Given the description of an element on the screen output the (x, y) to click on. 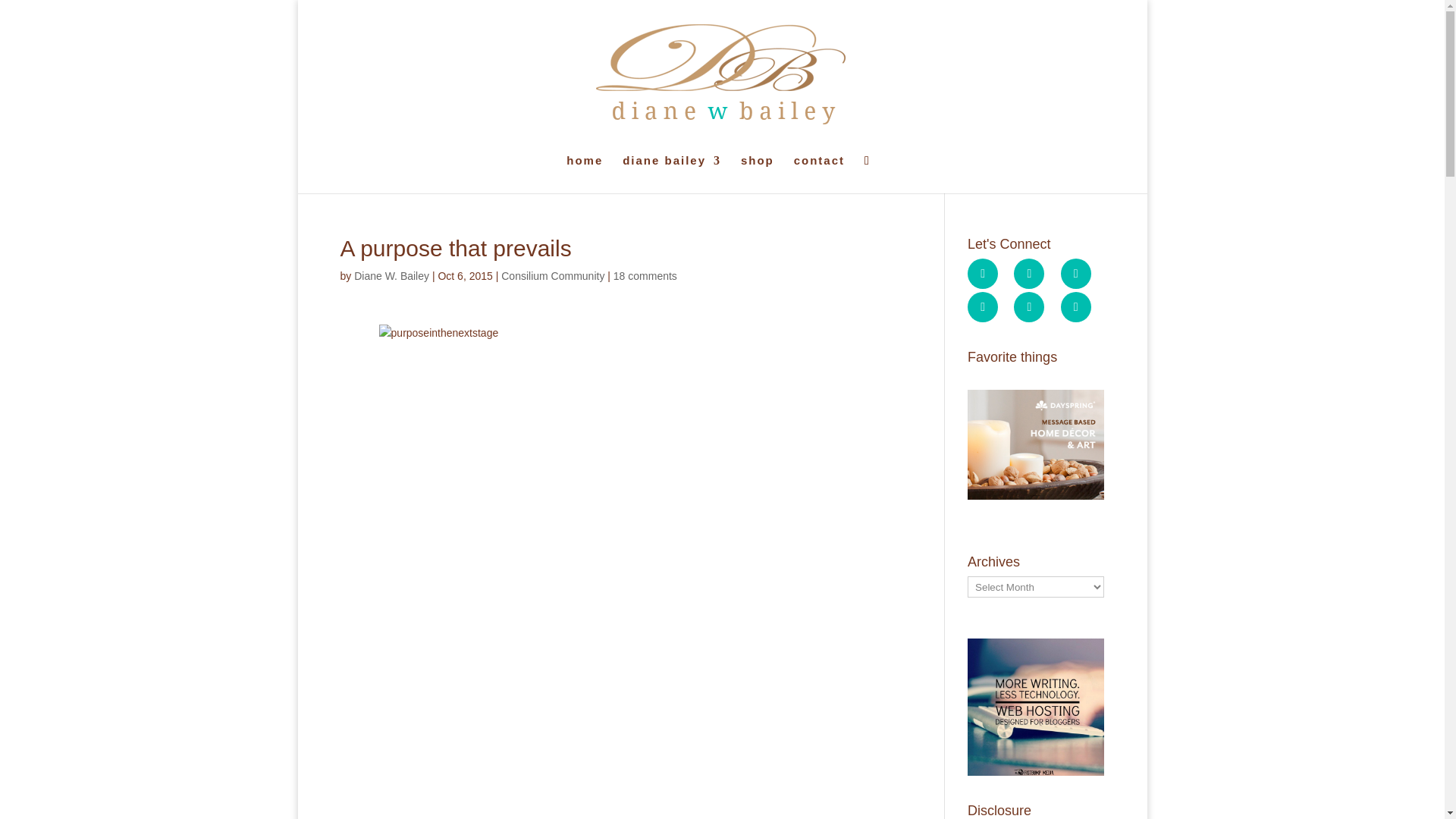
Posts by Diane W. Bailey (391, 275)
diane bailey (671, 174)
contact (818, 174)
home (584, 174)
18 comments (644, 275)
Consilium Community (552, 275)
Diane W. Bailey (391, 275)
